Given the description of an element on the screen output the (x, y) to click on. 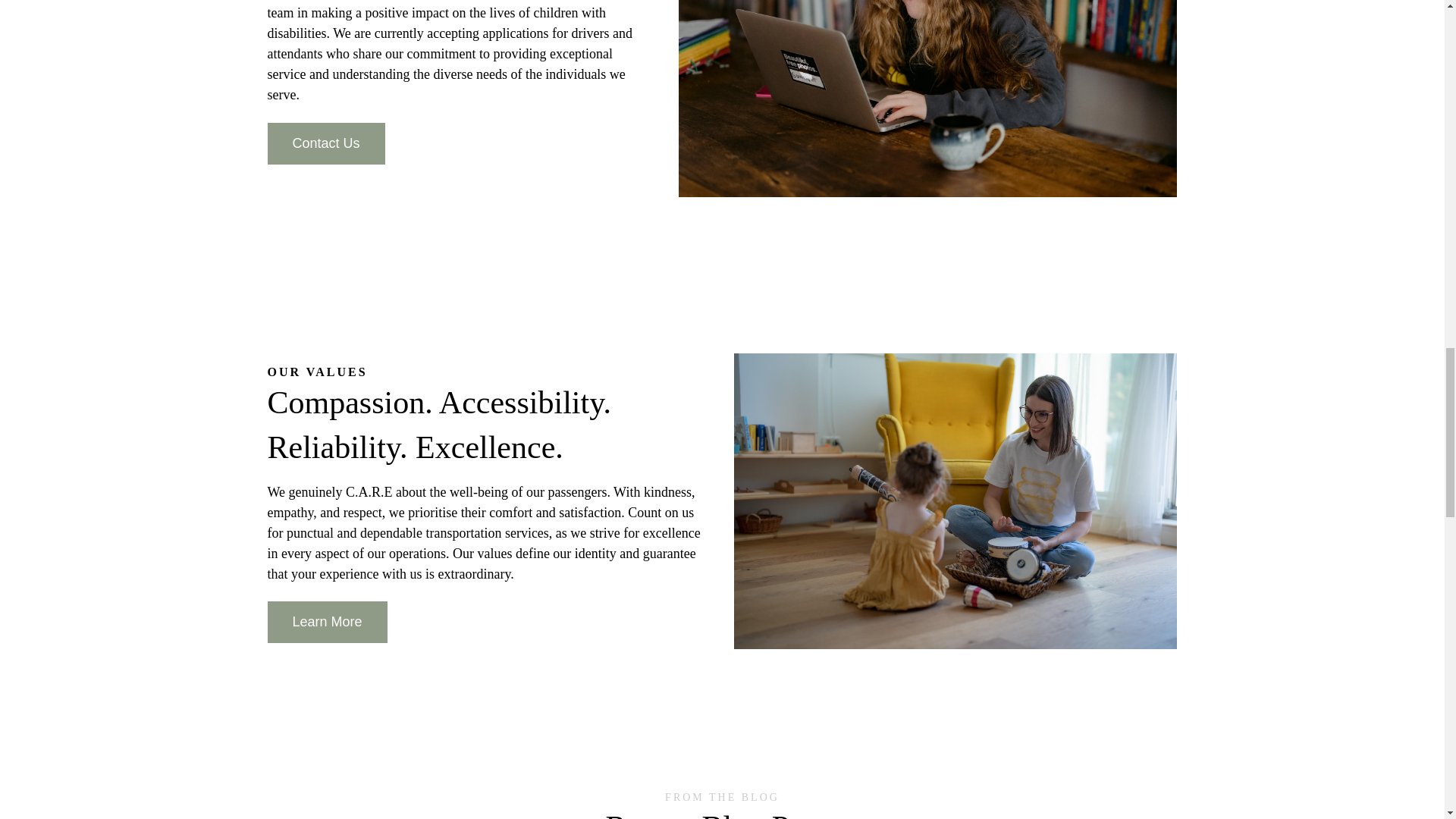
annie-spratt-xKJUnFwfz3s-unsplash (927, 98)
sebastian-pandelache-j4o87vrduLg-unsplash (955, 500)
Learn More (326, 621)
Contact Us (325, 143)
